Given the description of an element on the screen output the (x, y) to click on. 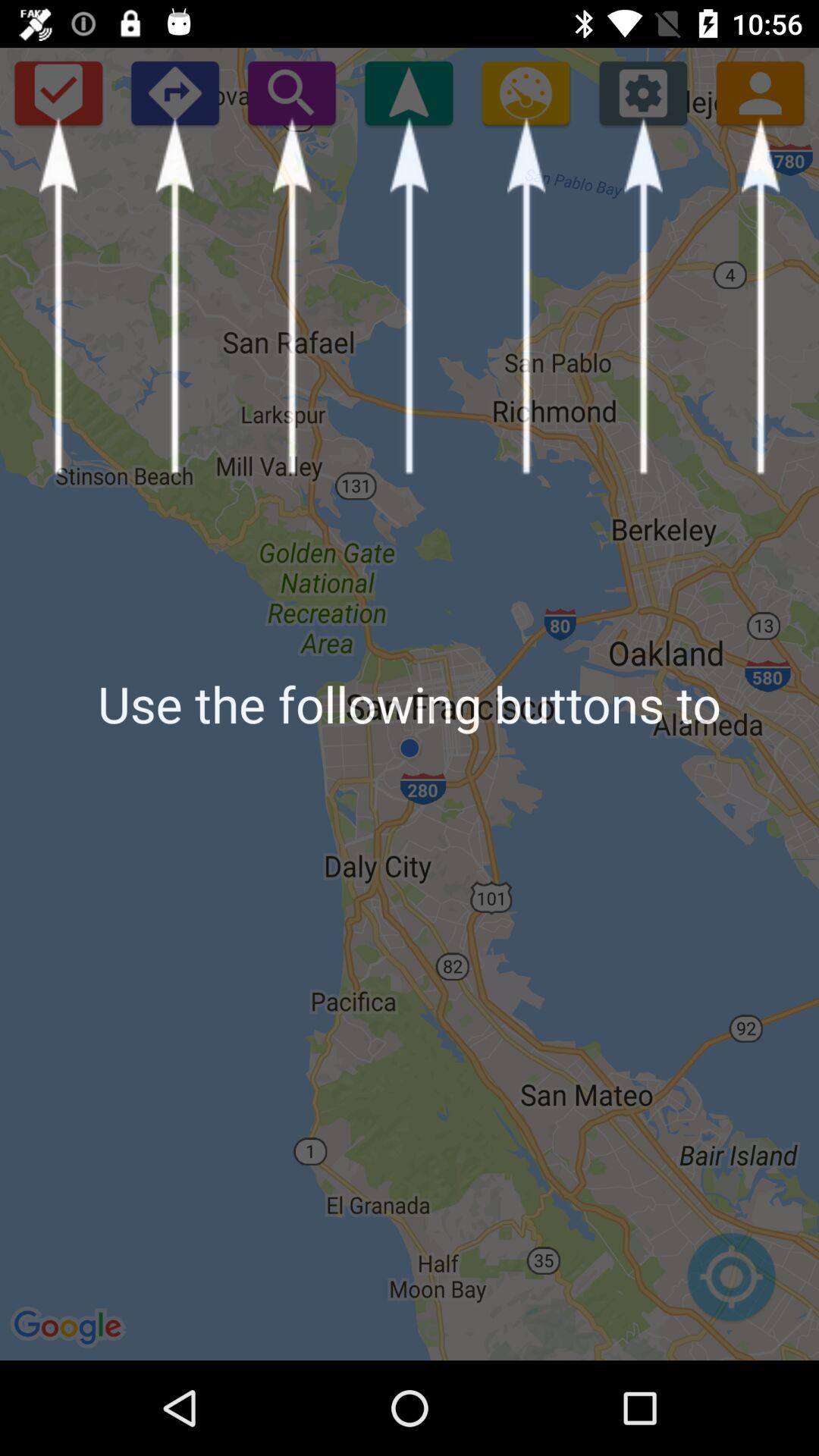
move my view of the map up down and sideways.. (731, 1284)
